Given the description of an element on the screen output the (x, y) to click on. 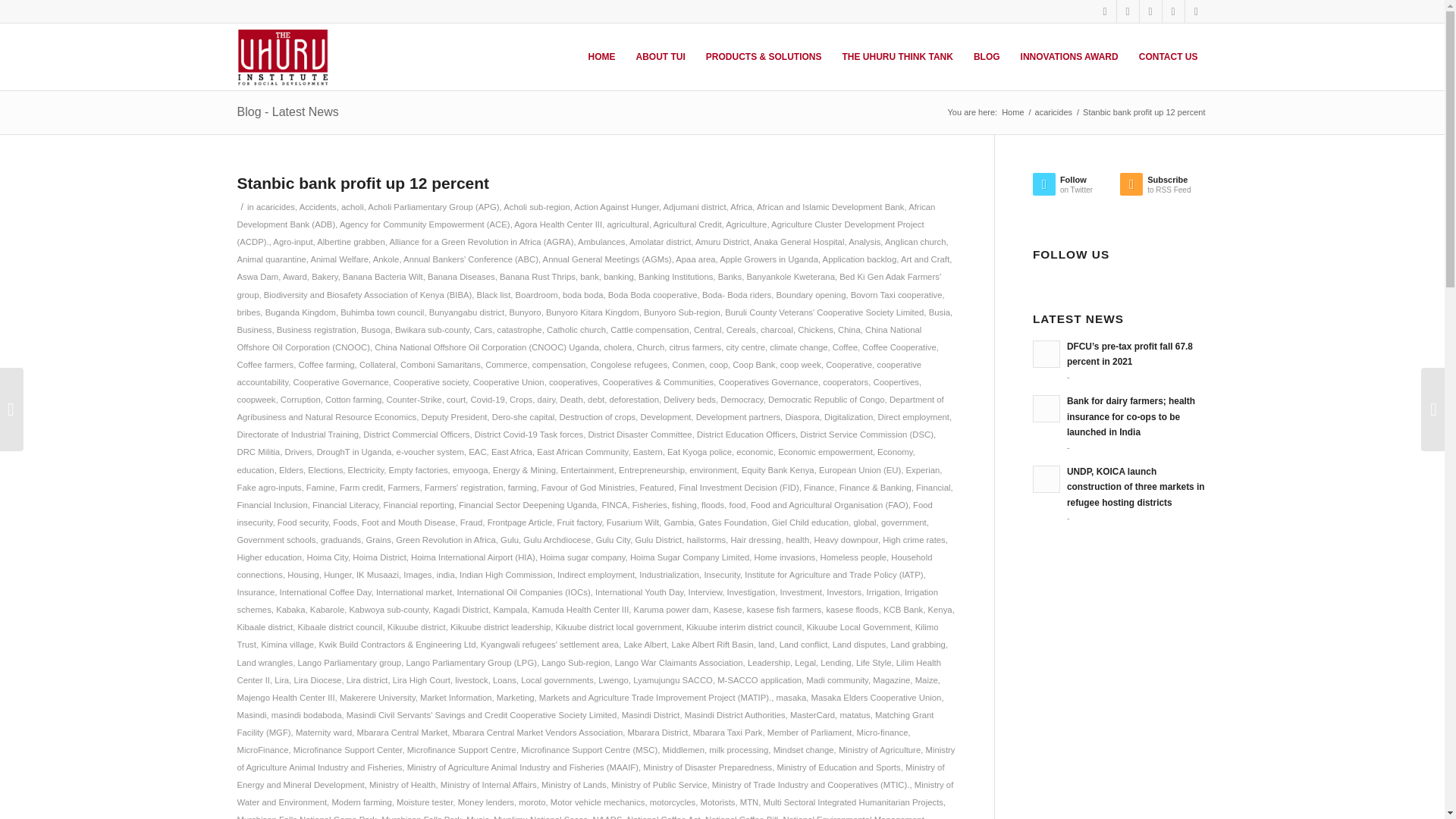
The Uhuru Institute for Social Development (1012, 112)
Youtube (1196, 11)
Permanent Link: Blog - Latest News (286, 111)
acaricides (1053, 112)
Action Against Hunger (615, 206)
acholi (352, 206)
African and Islamic Development Bank (830, 206)
CONTACT US (1168, 56)
Stanbic bank profit up 12 percent (362, 182)
INNOVATIONS AWARD (1069, 56)
